Given the description of an element on the screen output the (x, y) to click on. 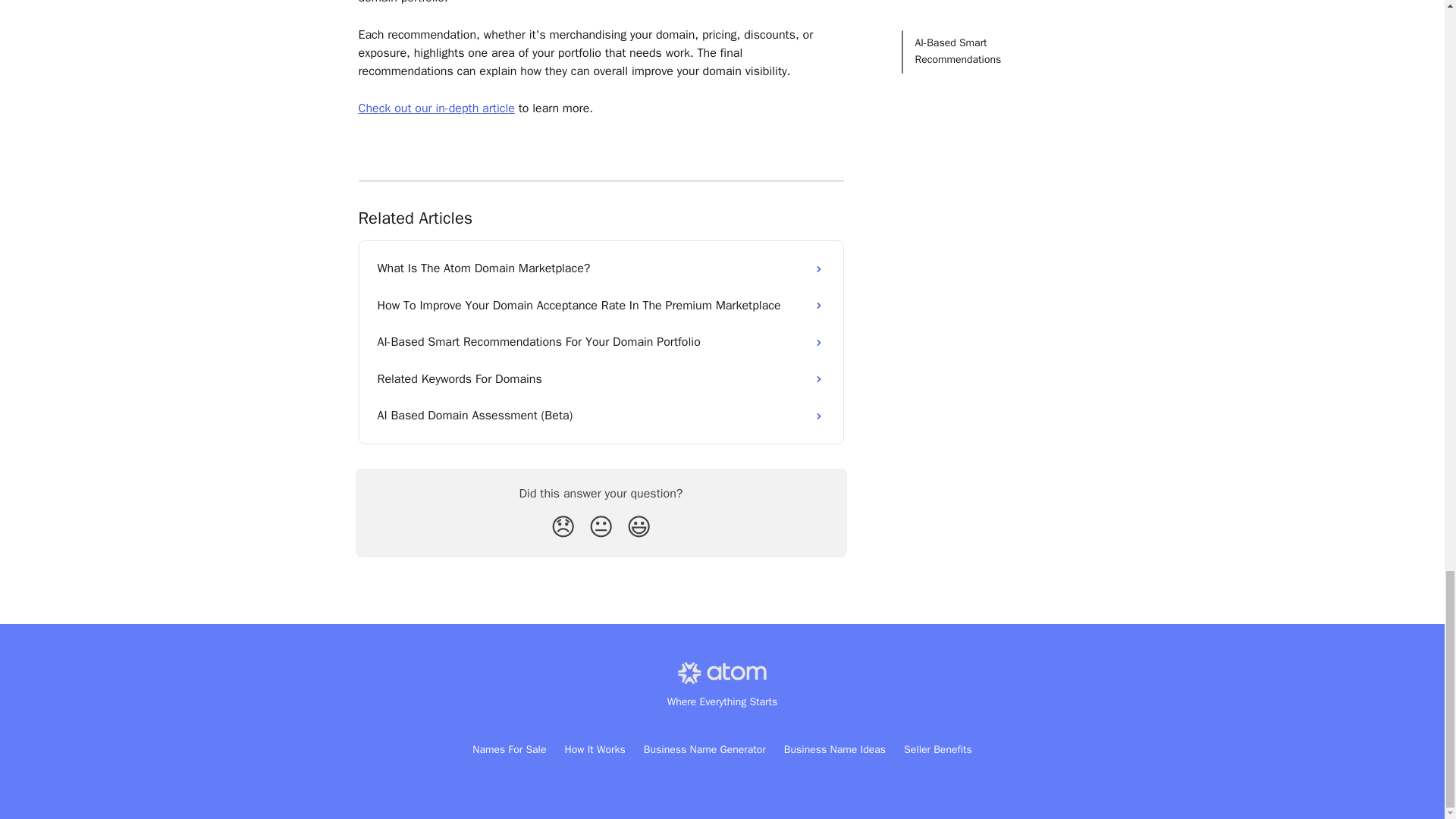
Seller Benefits (938, 748)
Business Name Ideas (834, 748)
How It Works (595, 748)
Business Name Generator (704, 748)
What Is The Atom Domain Marketplace? (601, 268)
AI-Based Smart Recommendations For Your Domain Portfolio (601, 341)
Related Keywords For Domains (601, 379)
Check out our in-depth article (435, 108)
Names For Sale (508, 748)
